Given the description of an element on the screen output the (x, y) to click on. 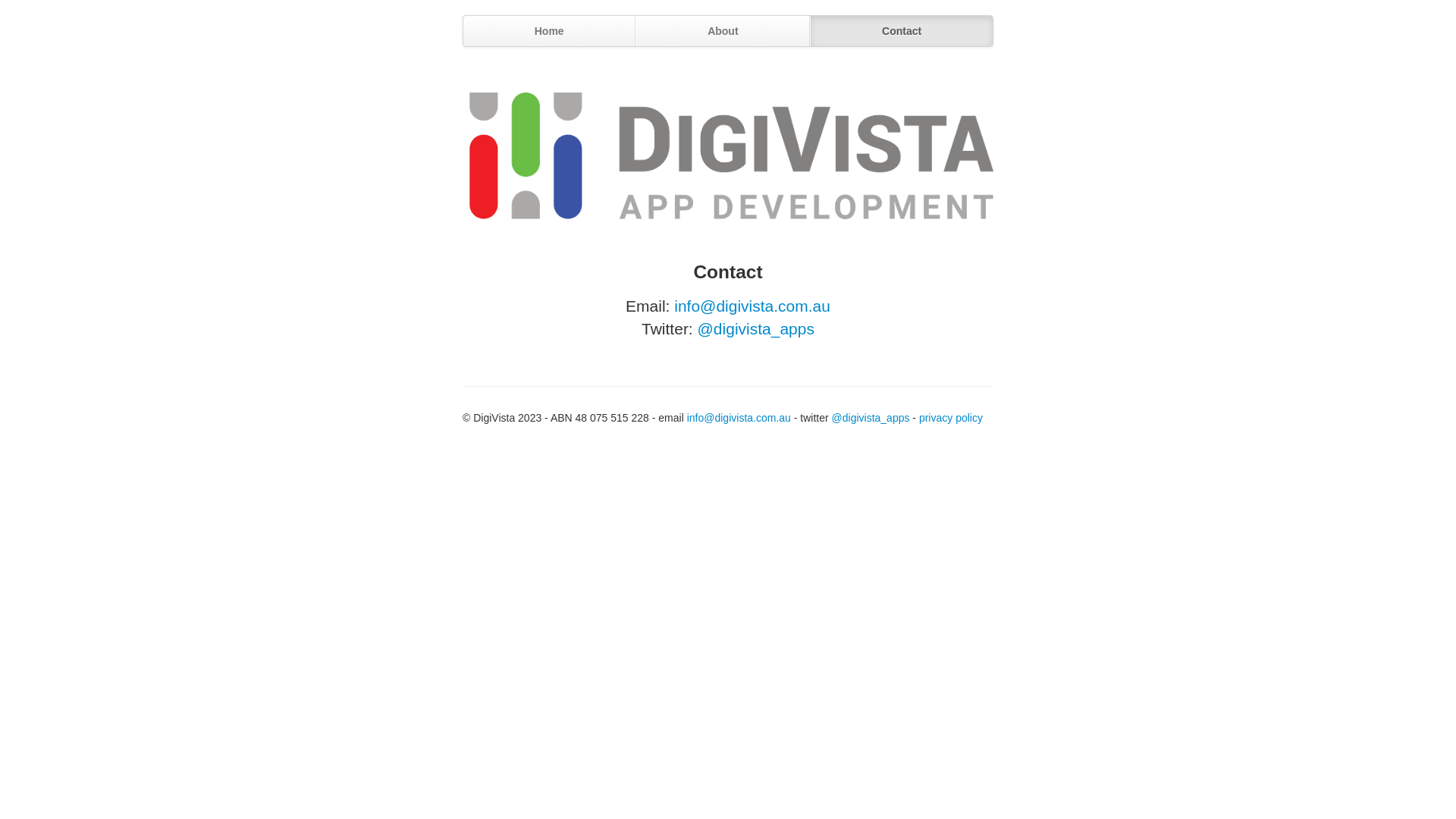
@digivista_apps Element type: text (870, 417)
Home Element type: text (549, 30)
@digivista_apps Element type: text (755, 328)
Contact Element type: text (900, 30)
About Element type: text (722, 30)
info@digivista.com.au Element type: text (752, 305)
privacy policy Element type: text (950, 417)
info@digivista.com.au Element type: text (738, 417)
